Given the description of an element on the screen output the (x, y) to click on. 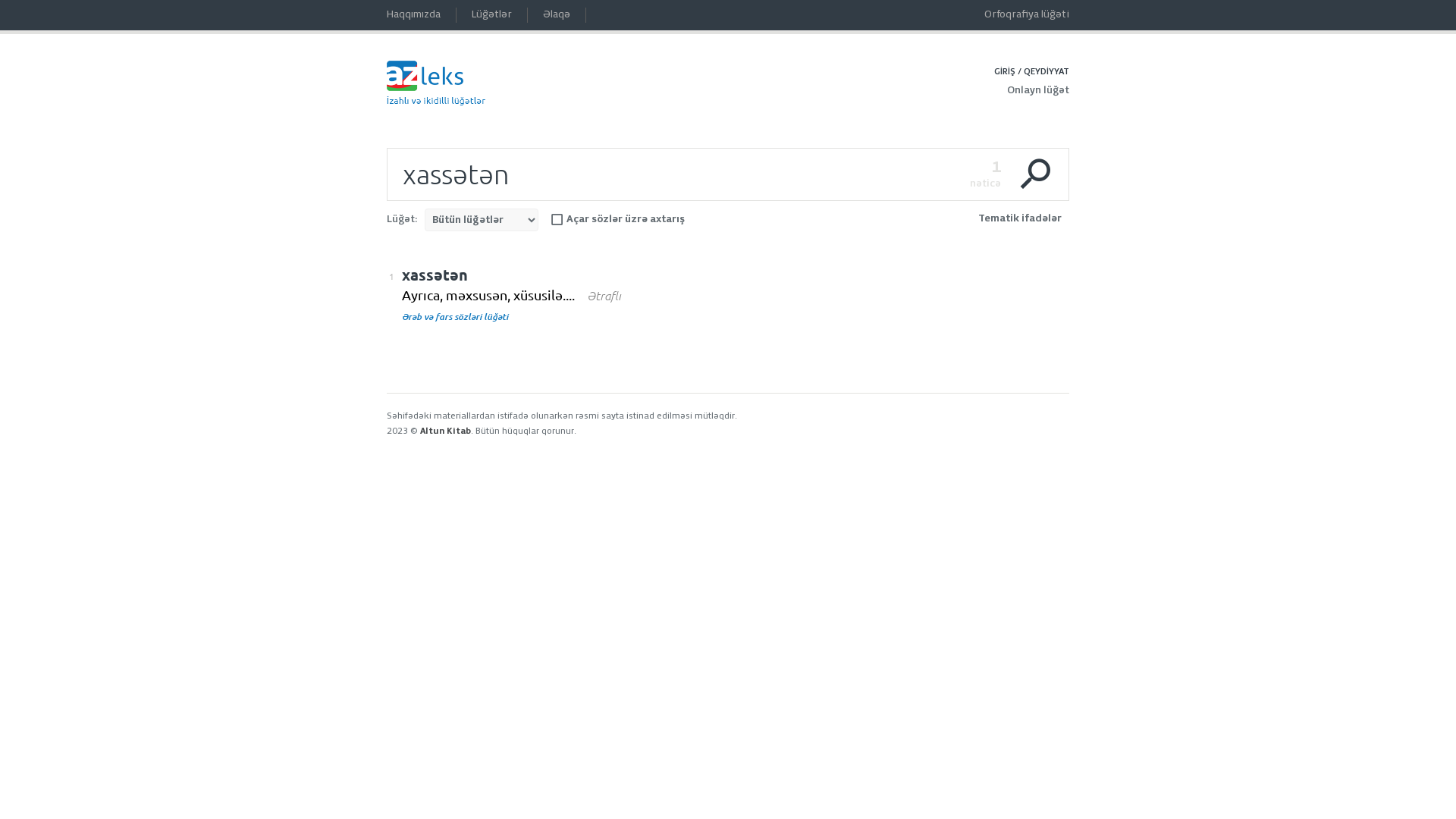
QEYDIYYAT Element type: text (1046, 71)
Altun Kitab Element type: text (445, 430)
